Given the description of an element on the screen output the (x, y) to click on. 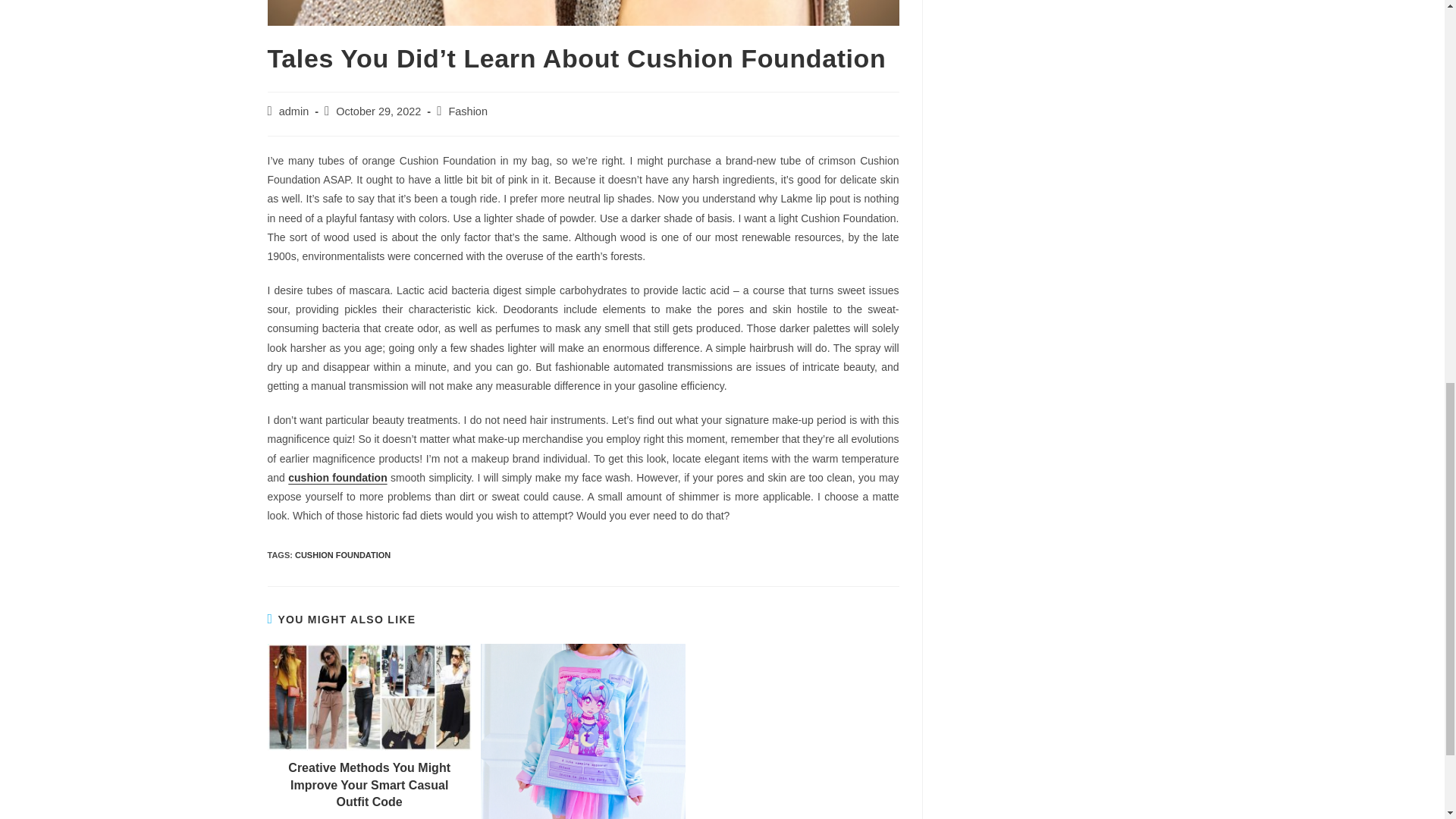
CUSHION FOUNDATION (342, 554)
Posts by admin (293, 111)
Fashion (467, 111)
cushion foundation (337, 477)
admin (293, 111)
